Given the description of an element on the screen output the (x, y) to click on. 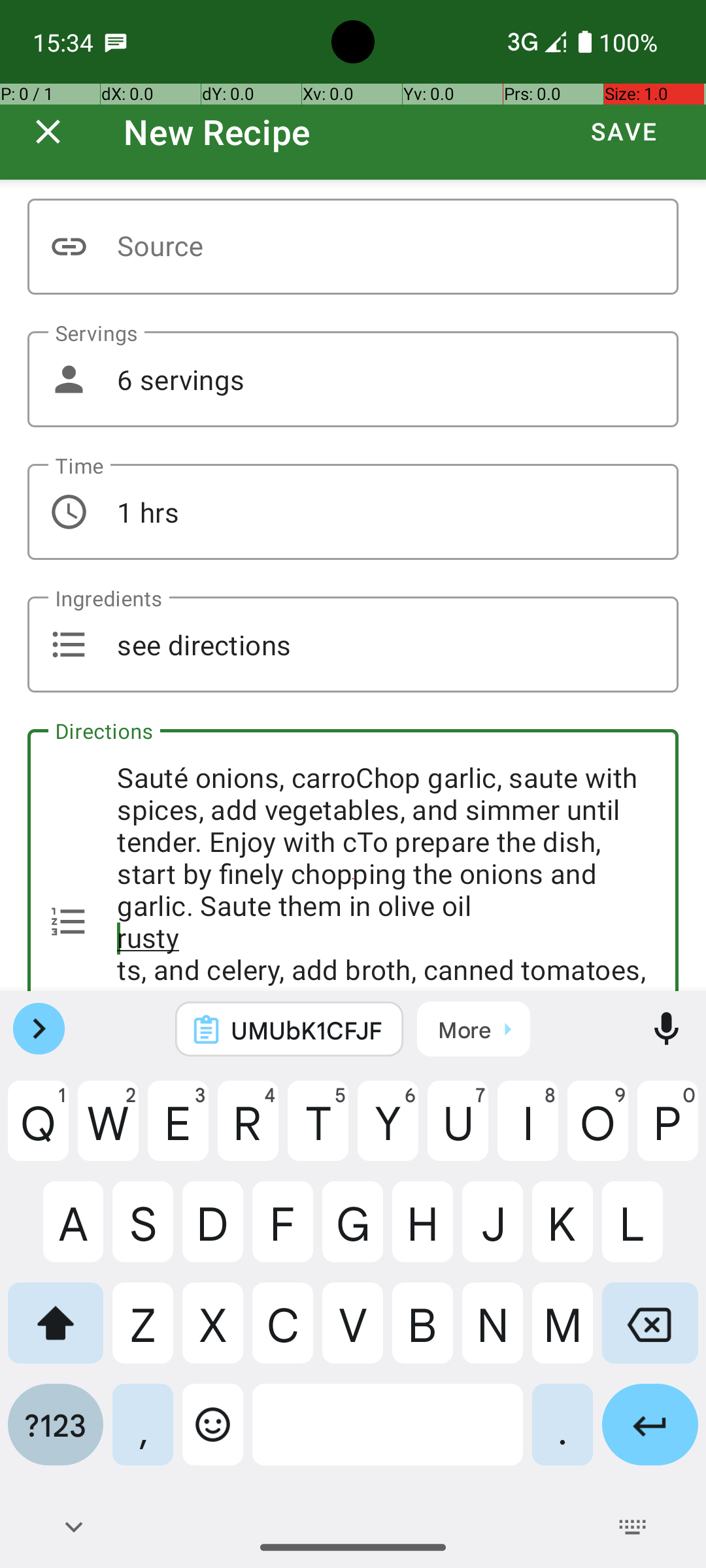
Source Element type: android.widget.EditText (352, 246)
6 servings Element type: android.widget.EditText (352, 379)
1 hrs Element type: android.widget.EditText (352, 511)
see directions Element type: android.widget.EditText (352, 644)
Sauté onions, carroChop garlic, saute with spices, add vegetables, and simmer until tender. Enjoy with cTo prepare the dish, start by finely chopping the onions and garlic. Saute them in olive oil
rusty
ts, and celery, add broth, canned tomatoes, and chickpeas. Simmer with spinach and seasonings. Feel free to substitute with ingredients you have on hand. Element type: android.widget.EditText (352, 860)
